Given the description of an element on the screen output the (x, y) to click on. 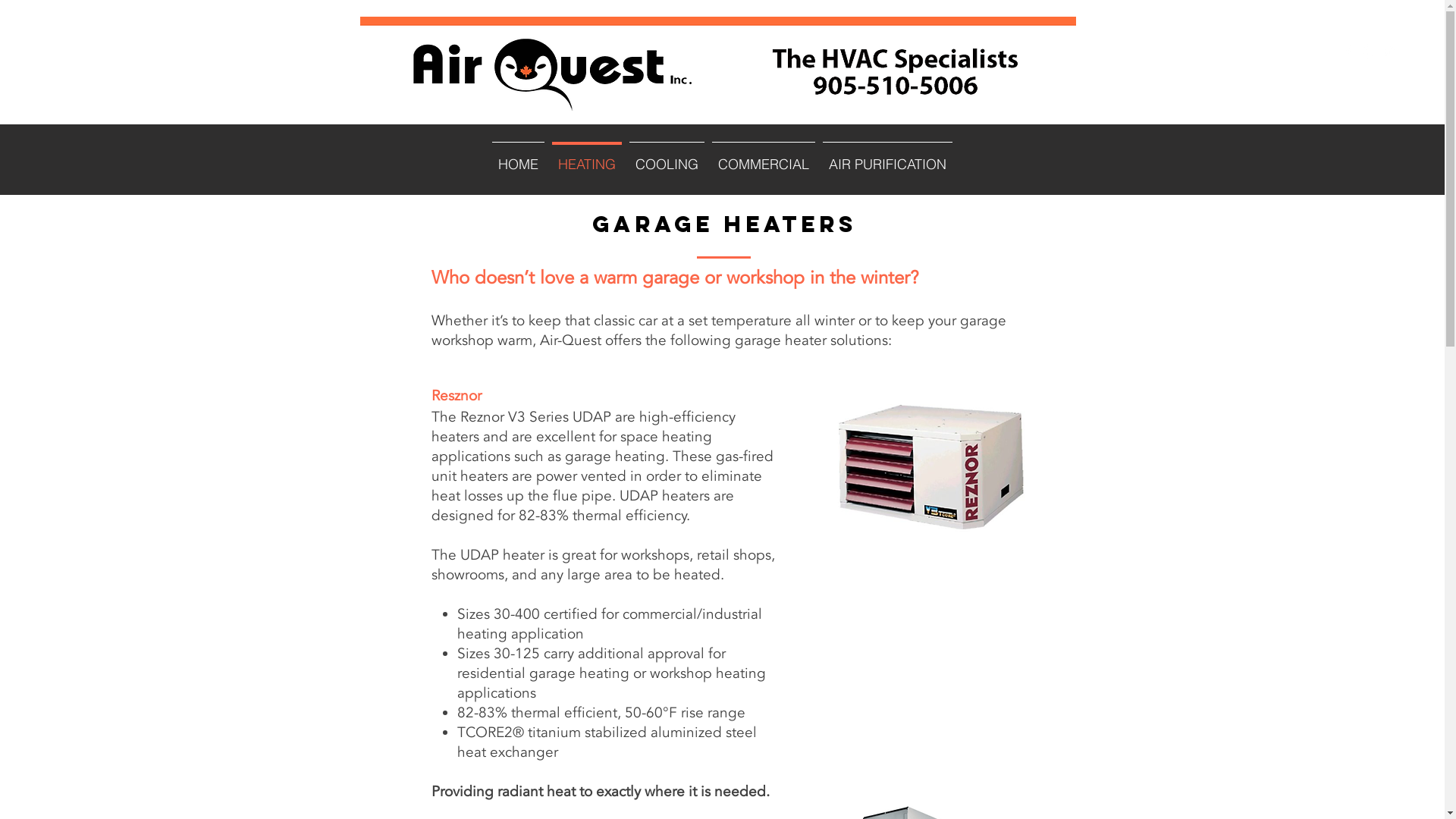
COMMERCIAL Element type: text (763, 156)
HOME Element type: text (518, 156)
COOLING Element type: text (666, 156)
AIR PURIFICATION Element type: text (887, 156)
HEATING Element type: text (586, 156)
